Given the description of an element on the screen output the (x, y) to click on. 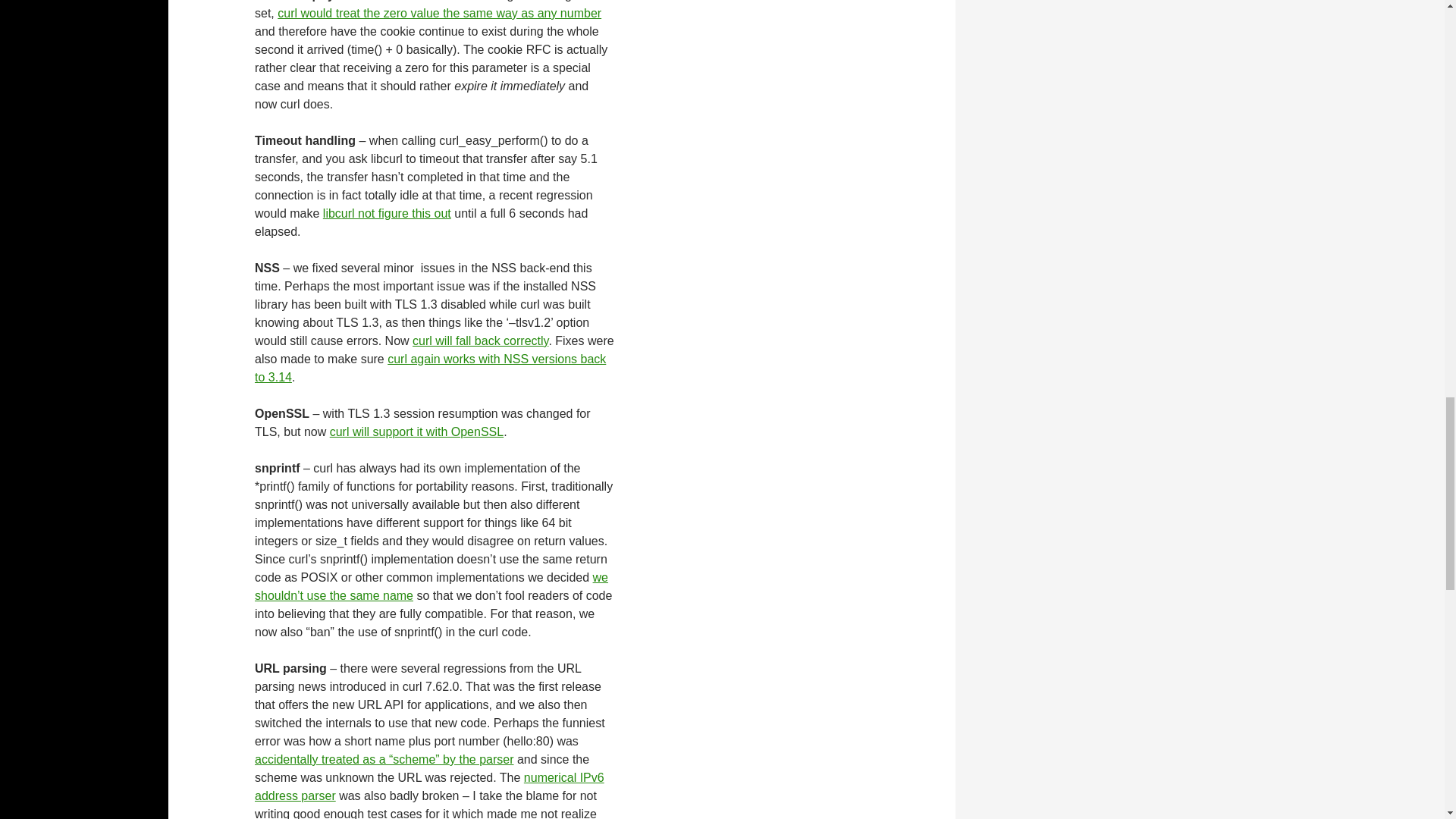
numerical IPv6 address parser (429, 786)
libcurl not figure this out (387, 213)
curl will fall back correctly (480, 340)
curl again works with NSS versions back to 3.14 (429, 368)
curl will support it with OpenSSL (416, 431)
curl would treat the zero value the same way as any number (439, 12)
